Given the description of an element on the screen output the (x, y) to click on. 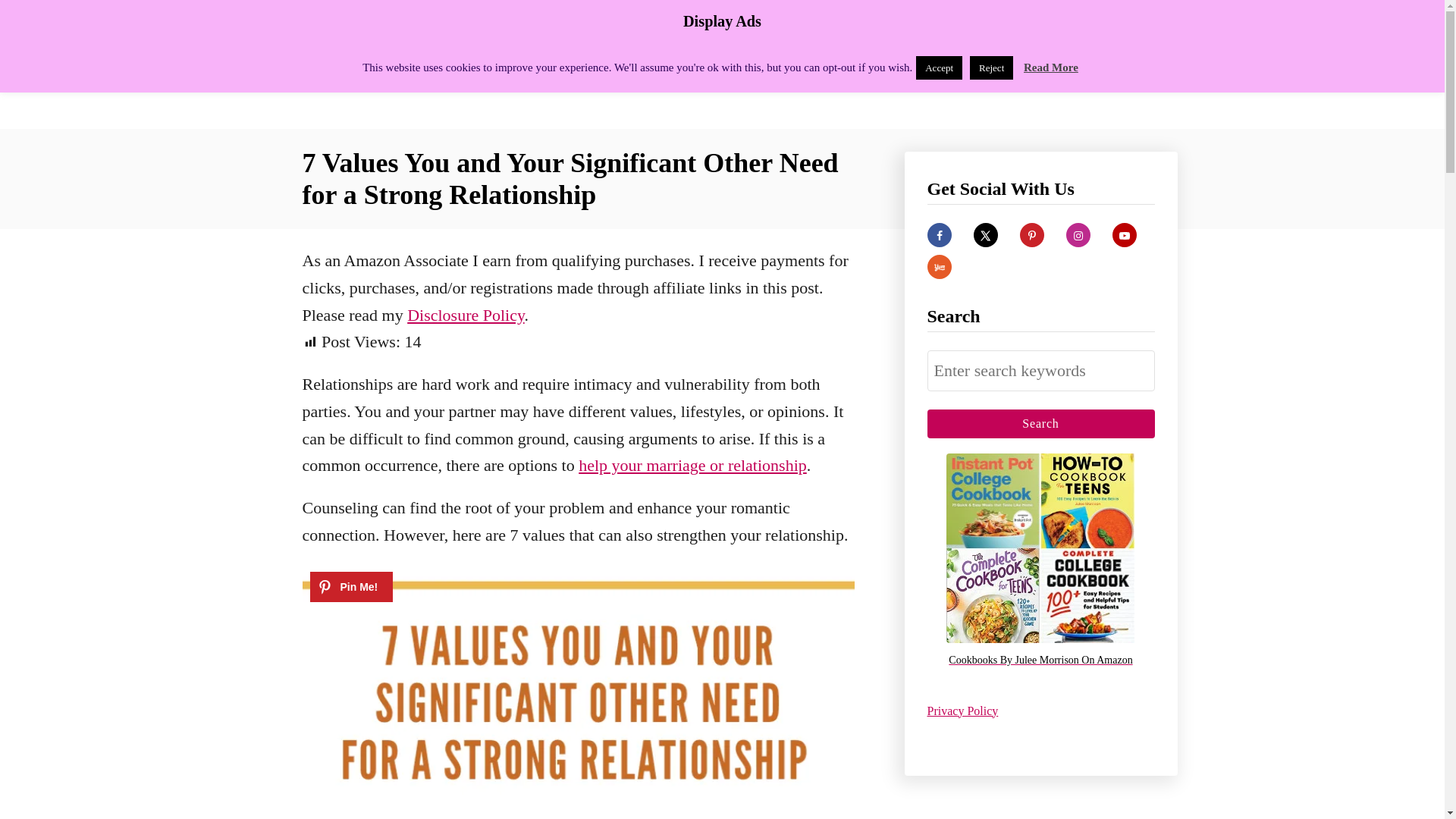
Pin Me! (350, 586)
Follow on Instagram (1077, 234)
Mommy's Memorandum (433, 64)
Disclosure Policy (465, 313)
Search for: (1040, 370)
Follow on X (985, 234)
Search (1040, 423)
Privacy Policy (961, 709)
Follow on Yummly (938, 266)
Follow on Pinterest (1031, 234)
Follow on Facebook (938, 234)
Read More (1050, 67)
Follow on YouTube (1124, 234)
Search (1040, 423)
